Given the description of an element on the screen output the (x, y) to click on. 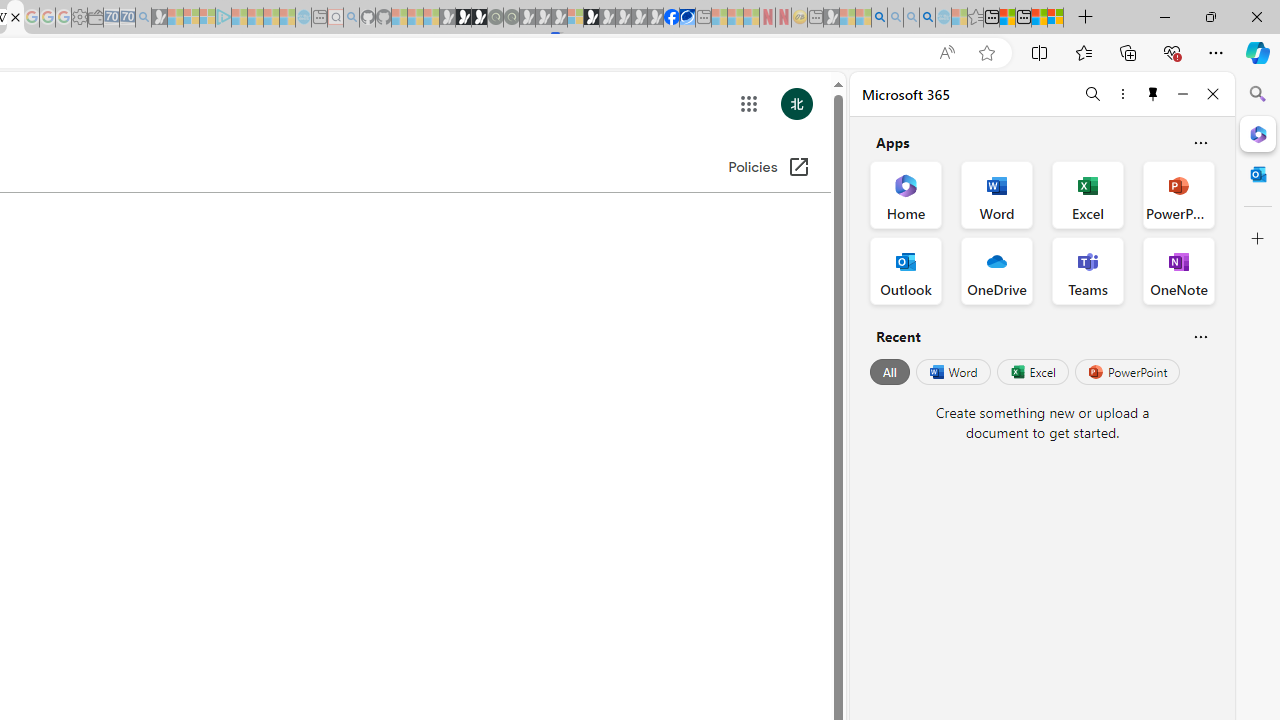
OneNote Office App (1178, 270)
PowerPoint Office App (1178, 194)
Sign in to your account - Sleeping (575, 17)
Bing AI - Search (879, 17)
